Given the description of an element on the screen output the (x, y) to click on. 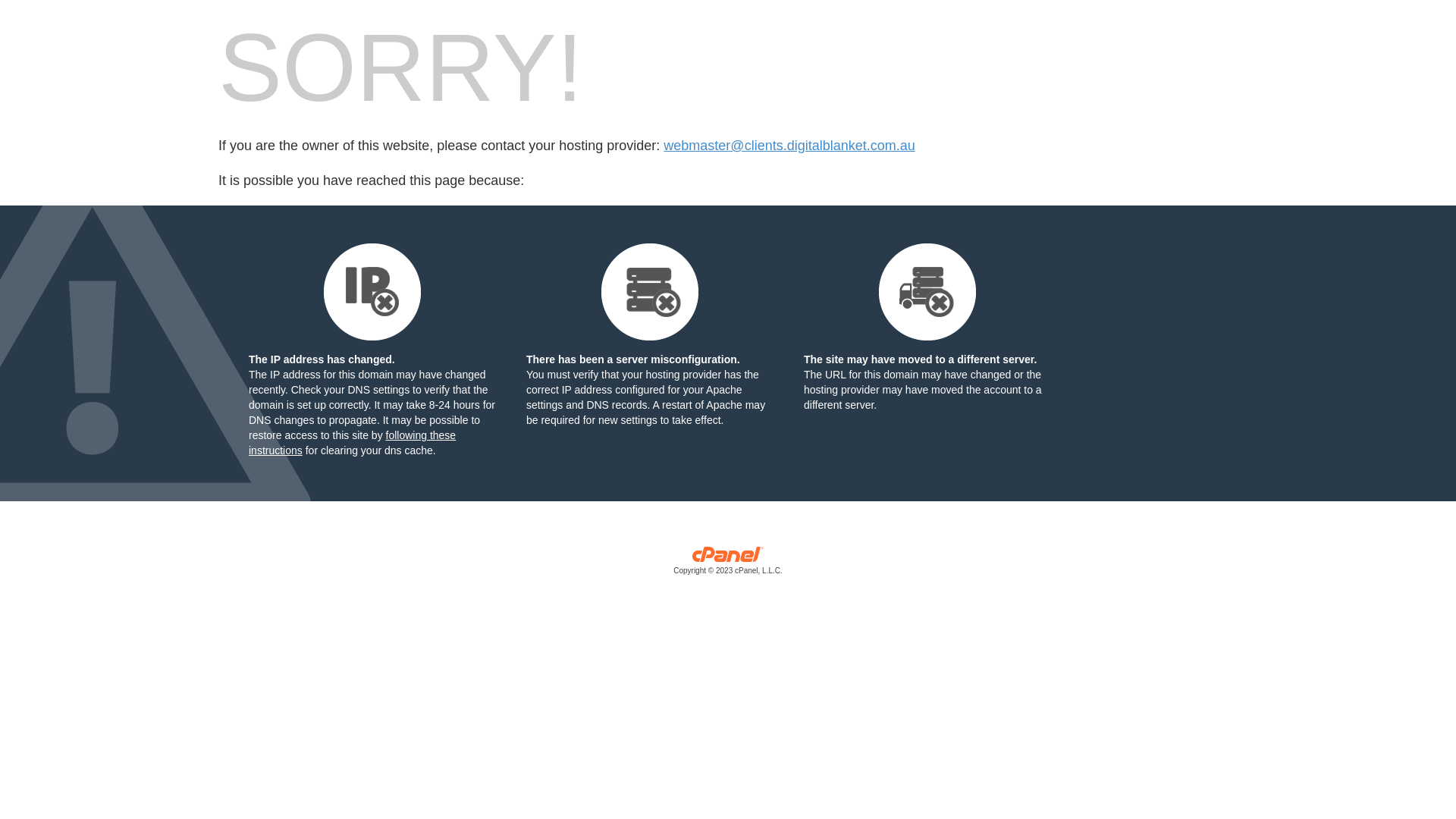
following these instructions Element type: text (351, 442)
webmaster@clients.digitalblanket.com.au Element type: text (788, 145)
